Given the description of an element on the screen output the (x, y) to click on. 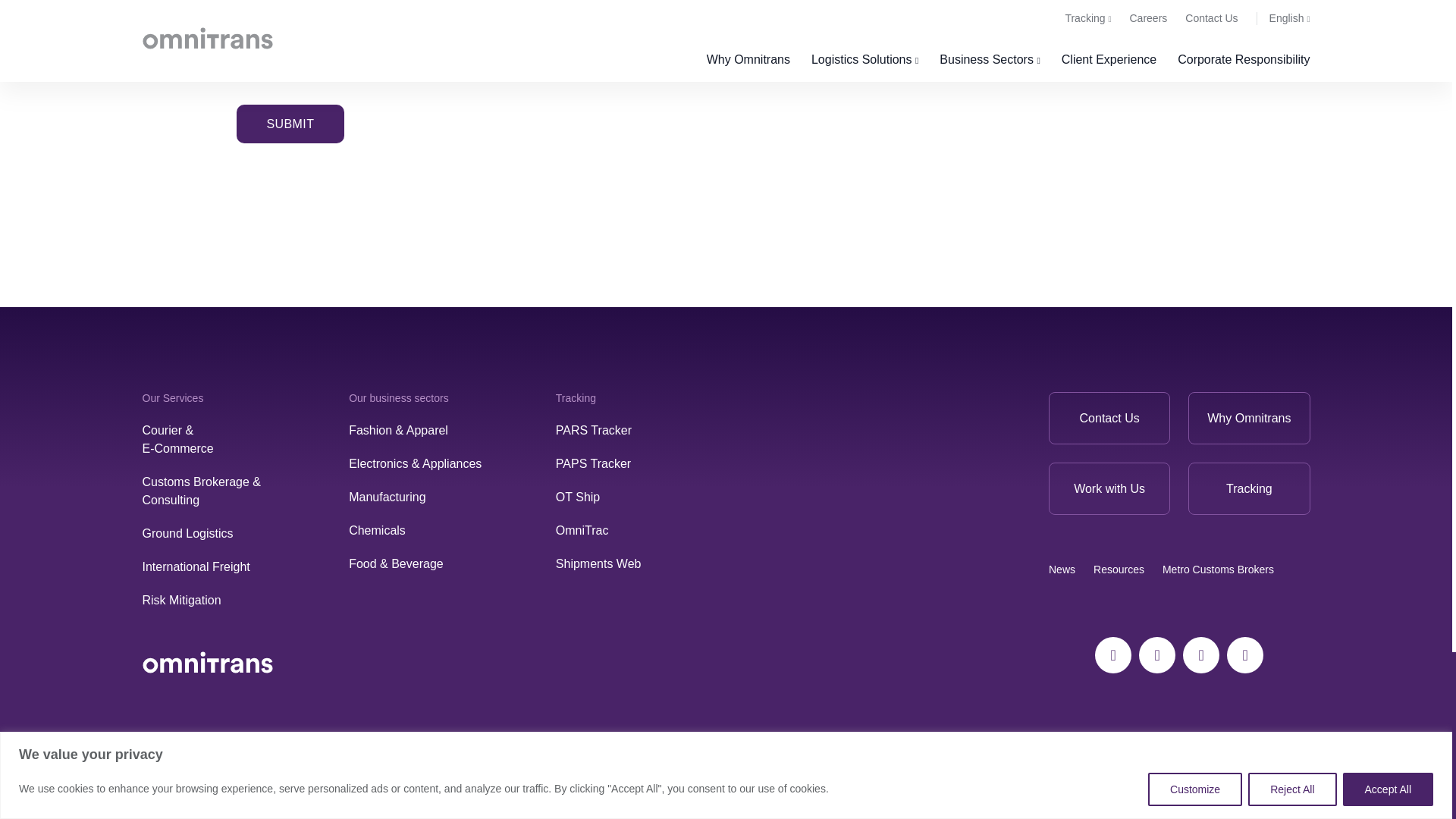
Visit on Instagram (1156, 655)
Visit on Linkedin (1245, 655)
Visit on Youtube (1201, 655)
Visit on Facebook (1112, 655)
